Given the description of an element on the screen output the (x, y) to click on. 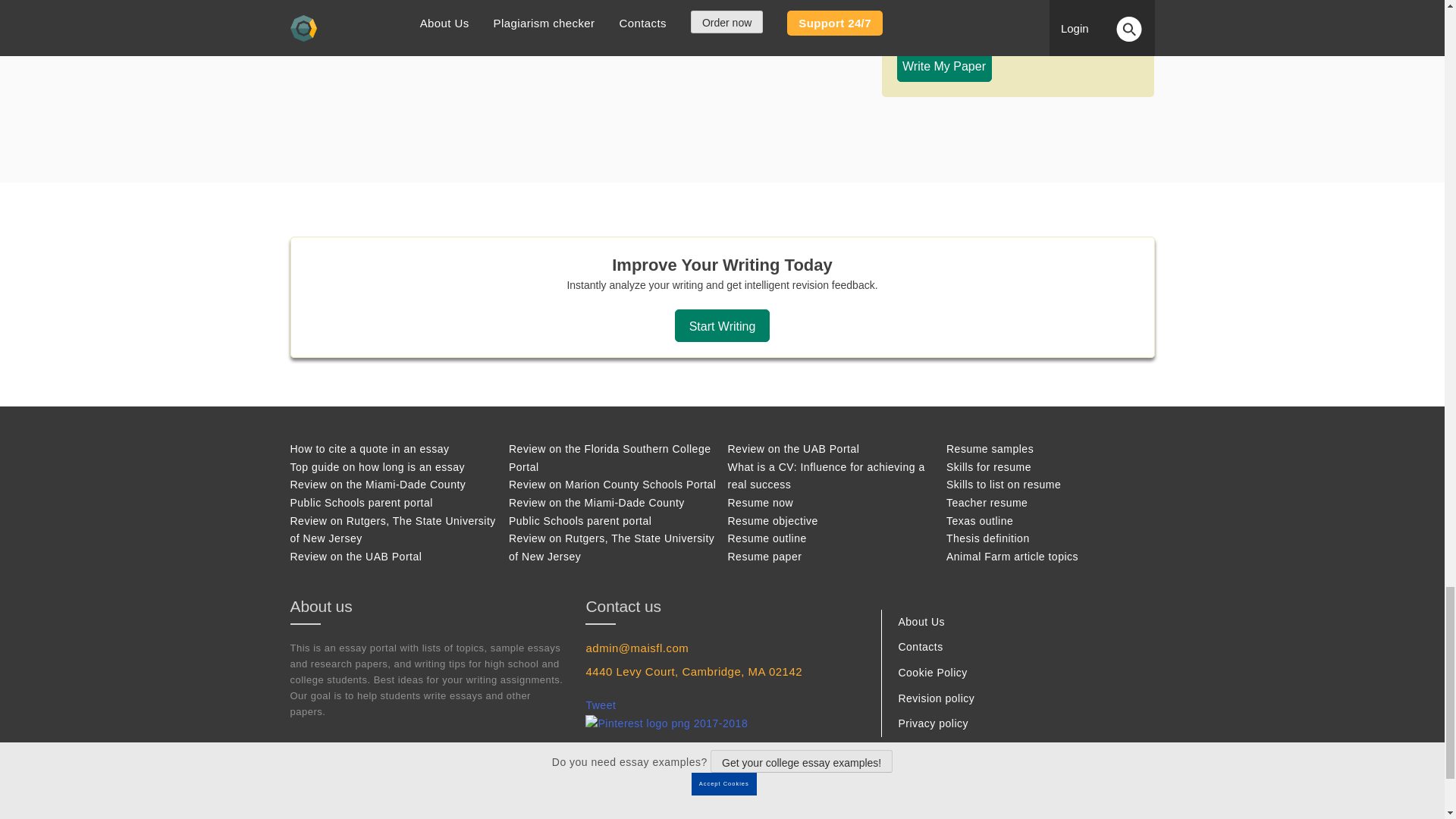
Content Protection by DMCA.com (900, 816)
